Given the description of an element on the screen output the (x, y) to click on. 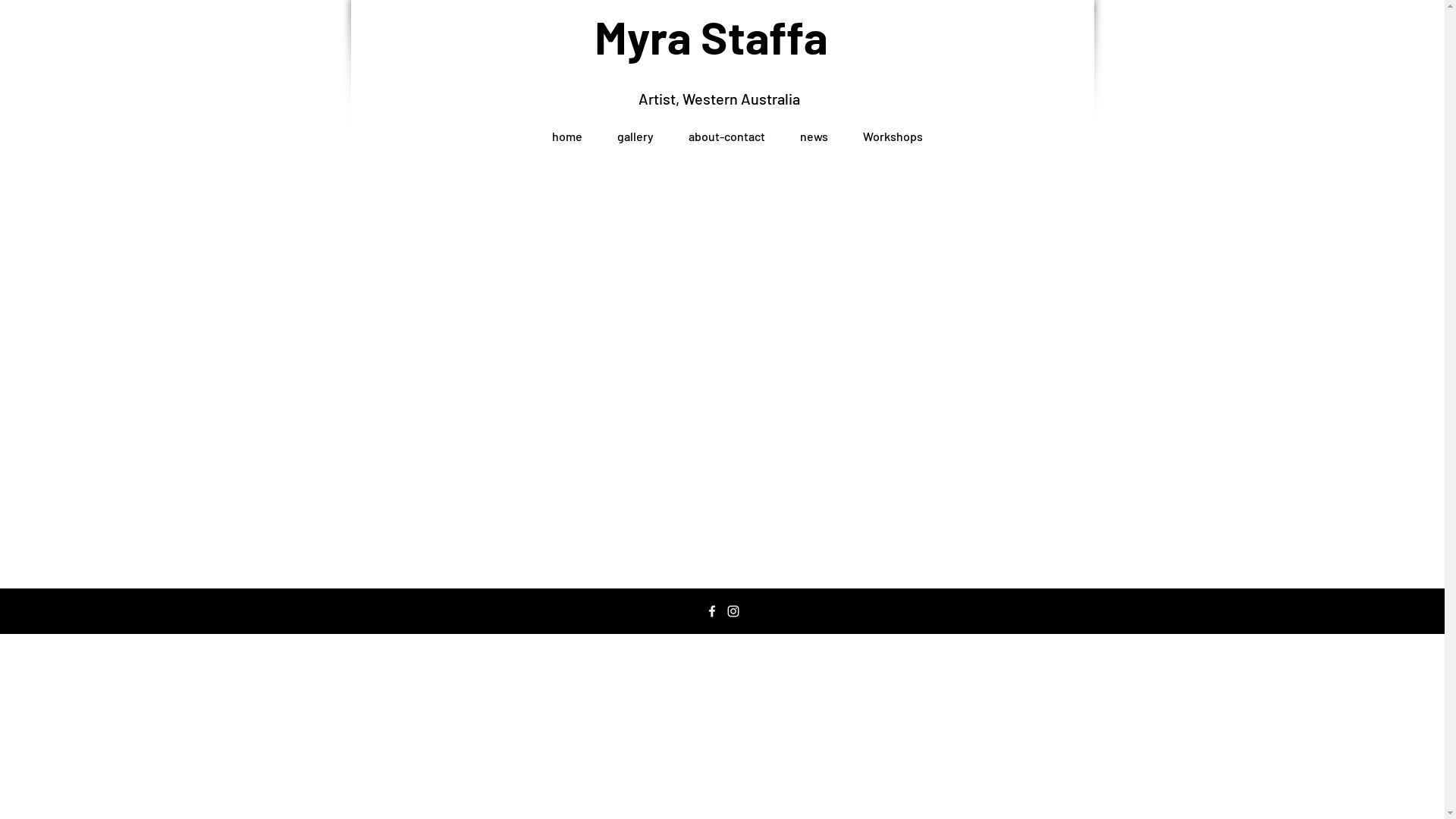
about-contact Element type: text (725, 129)
gallery Element type: text (634, 129)
news Element type: text (813, 129)
home Element type: text (566, 129)
Workshops Element type: text (891, 129)
